Given the description of an element on the screen output the (x, y) to click on. 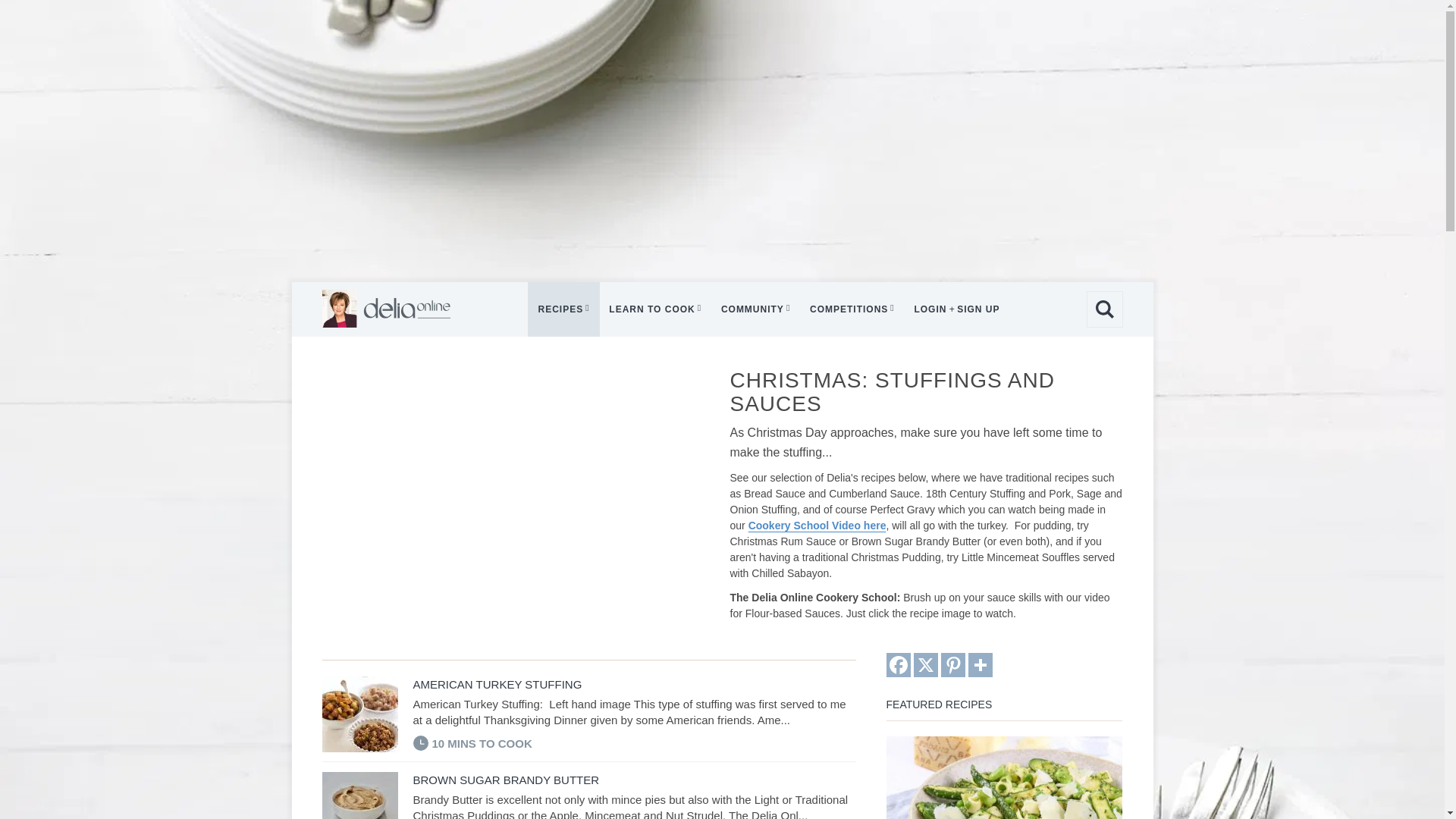
Skip to main content (789, 14)
